Given the description of an element on the screen output the (x, y) to click on. 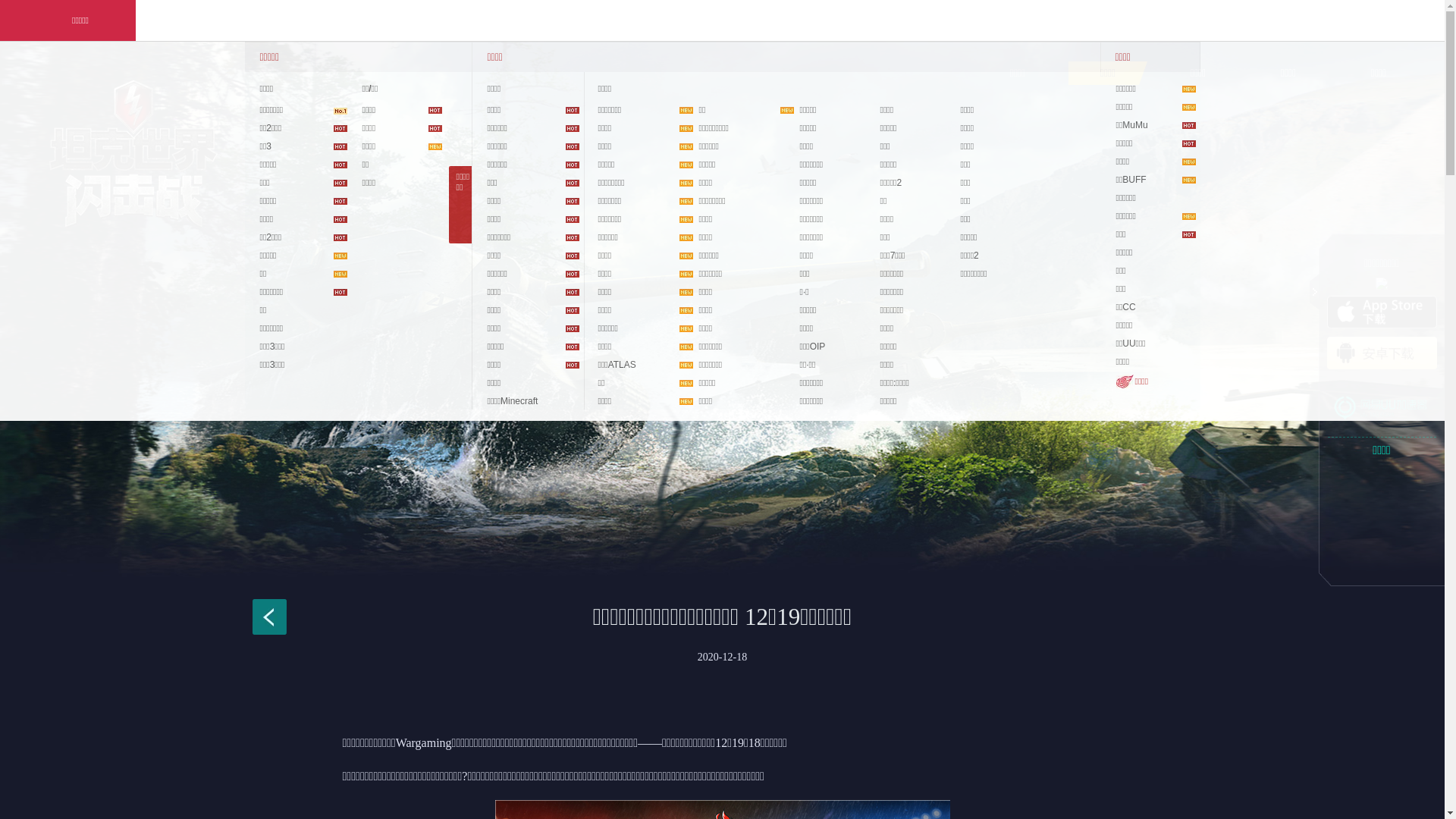
logo Element type: hover (133, 153)
btn Element type: hover (1314, 291)
